Given the description of an element on the screen output the (x, y) to click on. 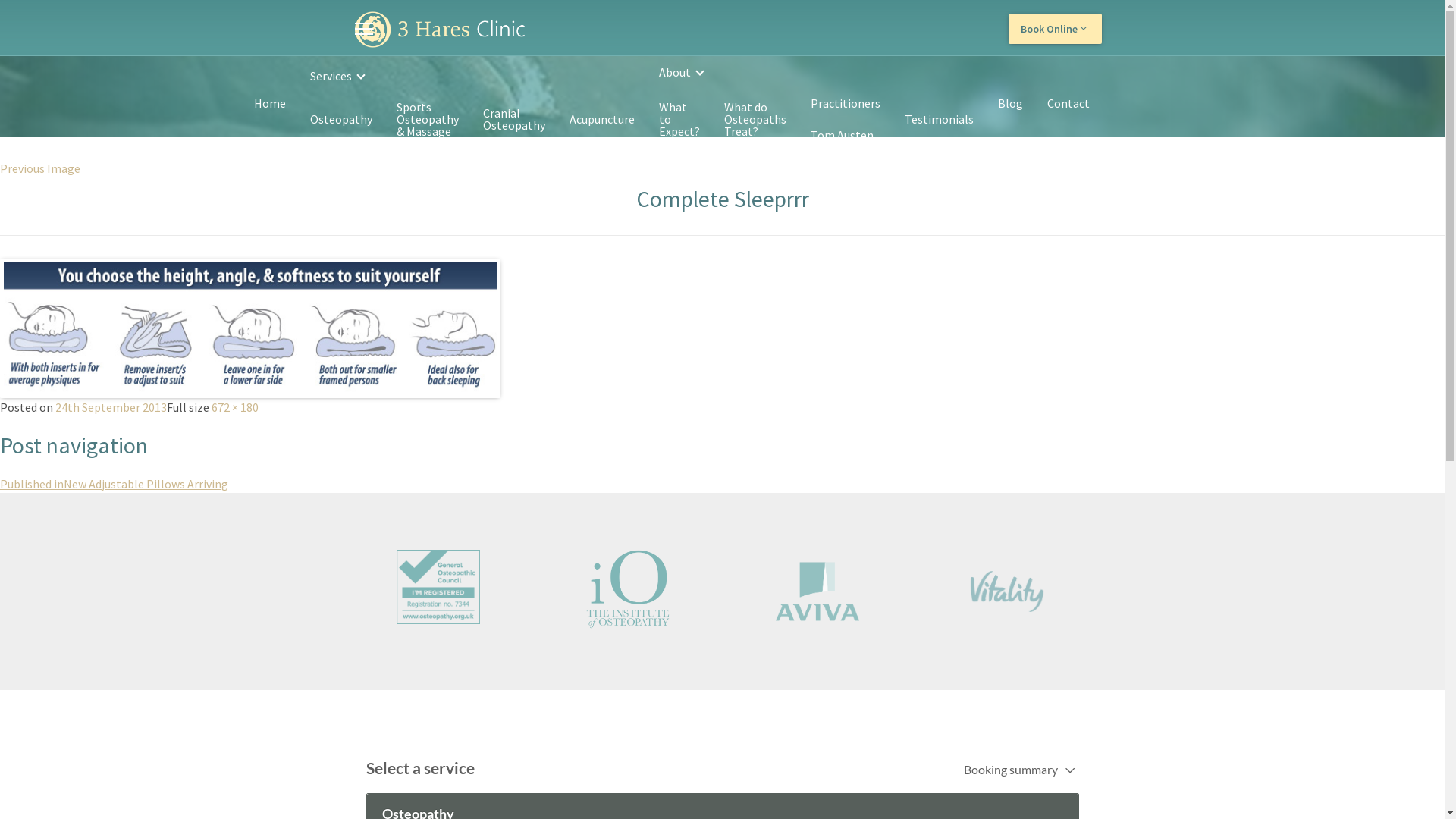
Aviva Health Element type: hover (817, 591)
General Osteopathic Council Element type: hover (437, 586)
Home Element type: text (269, 103)
Blog Element type: text (1010, 103)
The Istitute of Osteopathy Element type: hover (627, 588)
Tom Austen Element type: text (840, 134)
24th September 2013 Element type: text (110, 406)
What to Expect? Element type: text (678, 119)
Sports Osteopathy & Massage Element type: text (426, 119)
Cranial Osteopathy Element type: text (513, 119)
Testimonials Element type: text (938, 118)
Osteopathy Element type: text (340, 118)
Acupuncture Element type: text (601, 118)
3 Hares Clinic Element type: hover (439, 29)
Previous Image Element type: text (40, 167)
Contact Element type: text (1067, 103)
Practitioners Element type: text (844, 103)
Book Online Element type: text (1054, 28)
Vitality Element type: hover (1006, 591)
What do Osteopaths Treat? Element type: text (754, 119)
Published inNew Adjustable Pillows Arriving Element type: text (114, 483)
Services Element type: text (471, 75)
About Element type: text (815, 71)
